Given the description of an element on the screen output the (x, y) to click on. 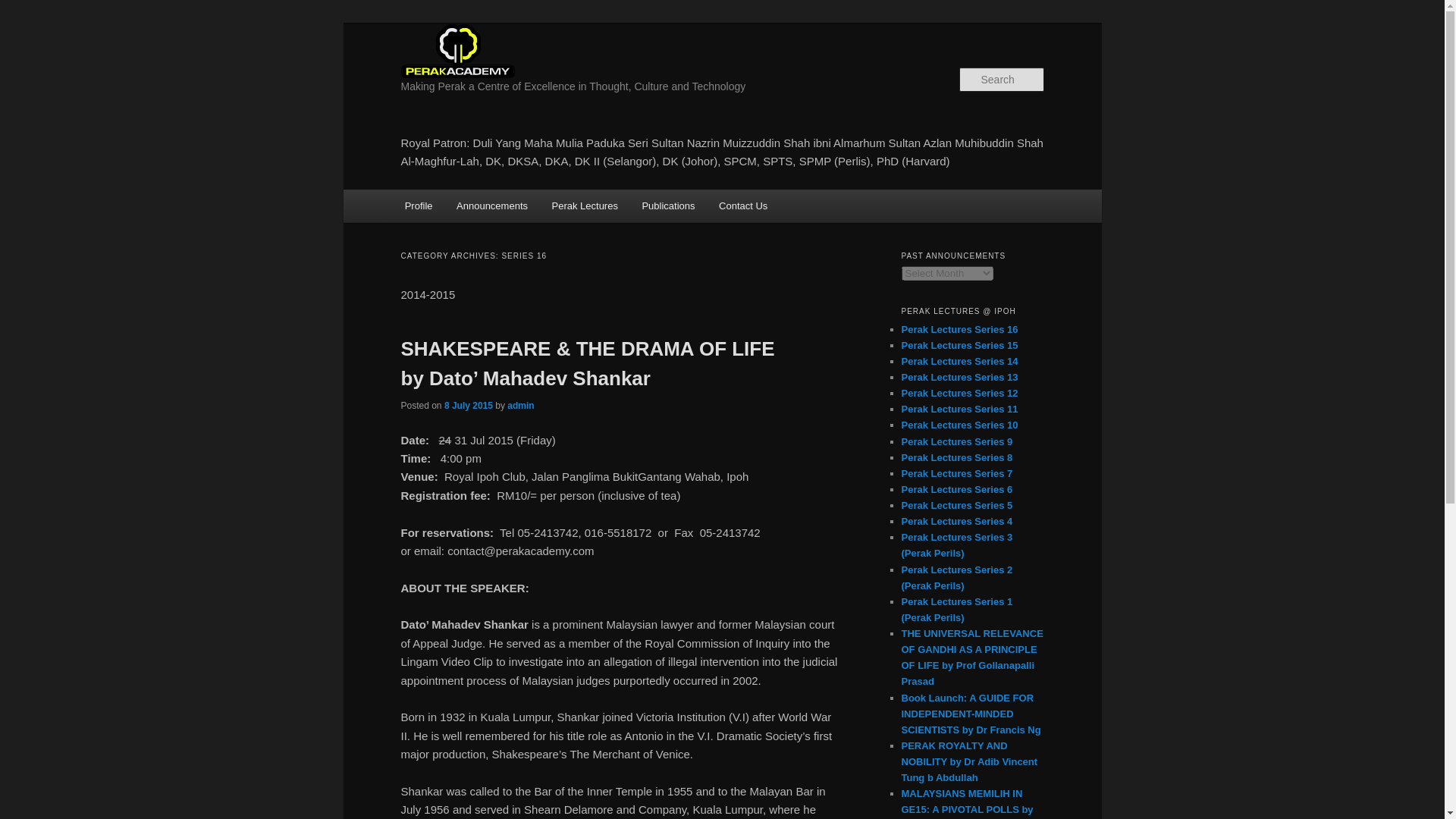
Contact Us (742, 205)
Perak Lectures Series 4 (956, 521)
Perak Lectures Series 5 (956, 505)
About Perak Academy (418, 205)
Perak Lectures Series 14 (959, 360)
Perak Lectures Series 7 (956, 473)
Announcements (491, 205)
Perak Lectures Series 13 (959, 377)
Perak Lectures Series 12 (959, 392)
8 July 2015 (468, 405)
